Given the description of an element on the screen output the (x, y) to click on. 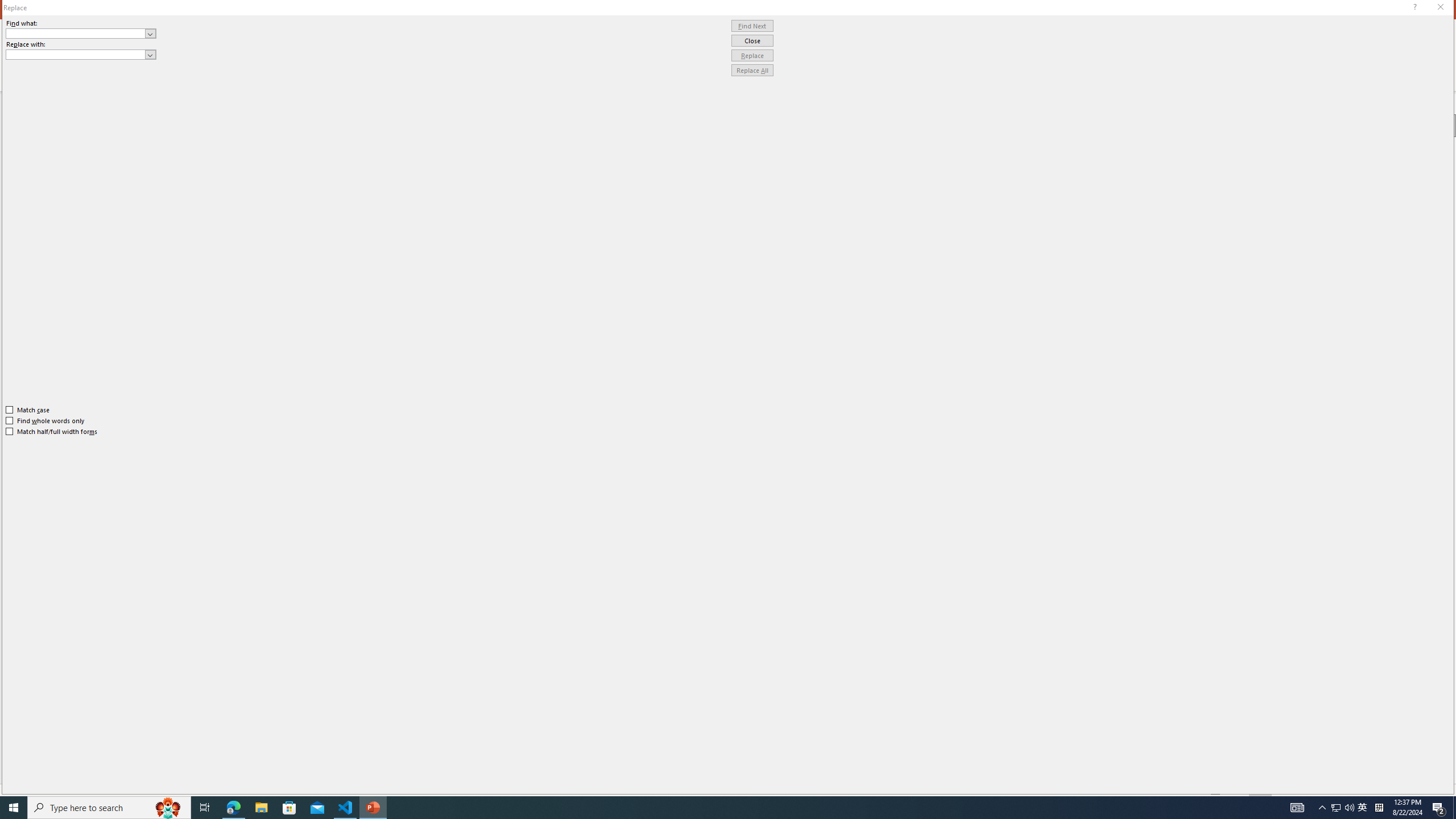
Pattern fill (1313, 208)
Transparency (1355, 260)
Page right (1358, 260)
Replace All (752, 69)
